Given the description of an element on the screen output the (x, y) to click on. 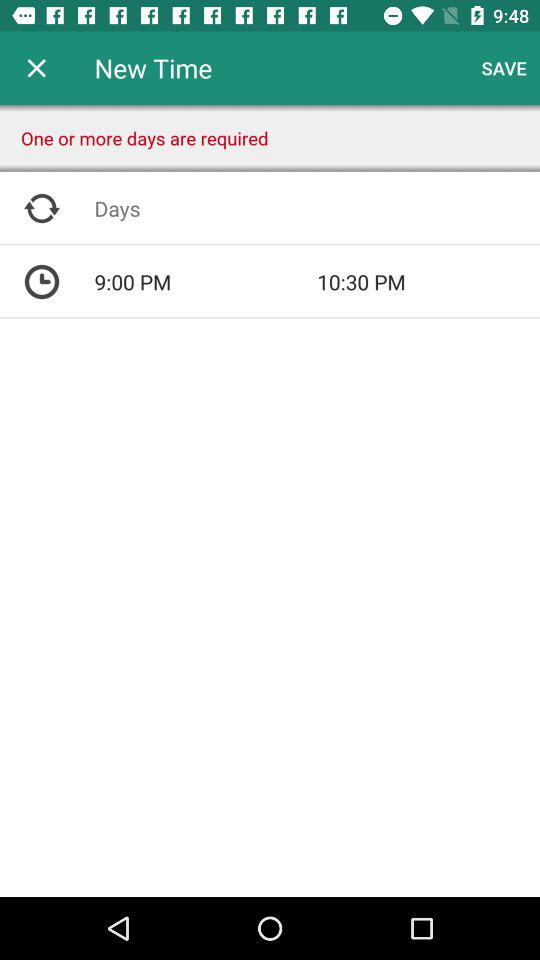
tap 10:30 pm icon (428, 281)
